Given the description of an element on the screen output the (x, y) to click on. 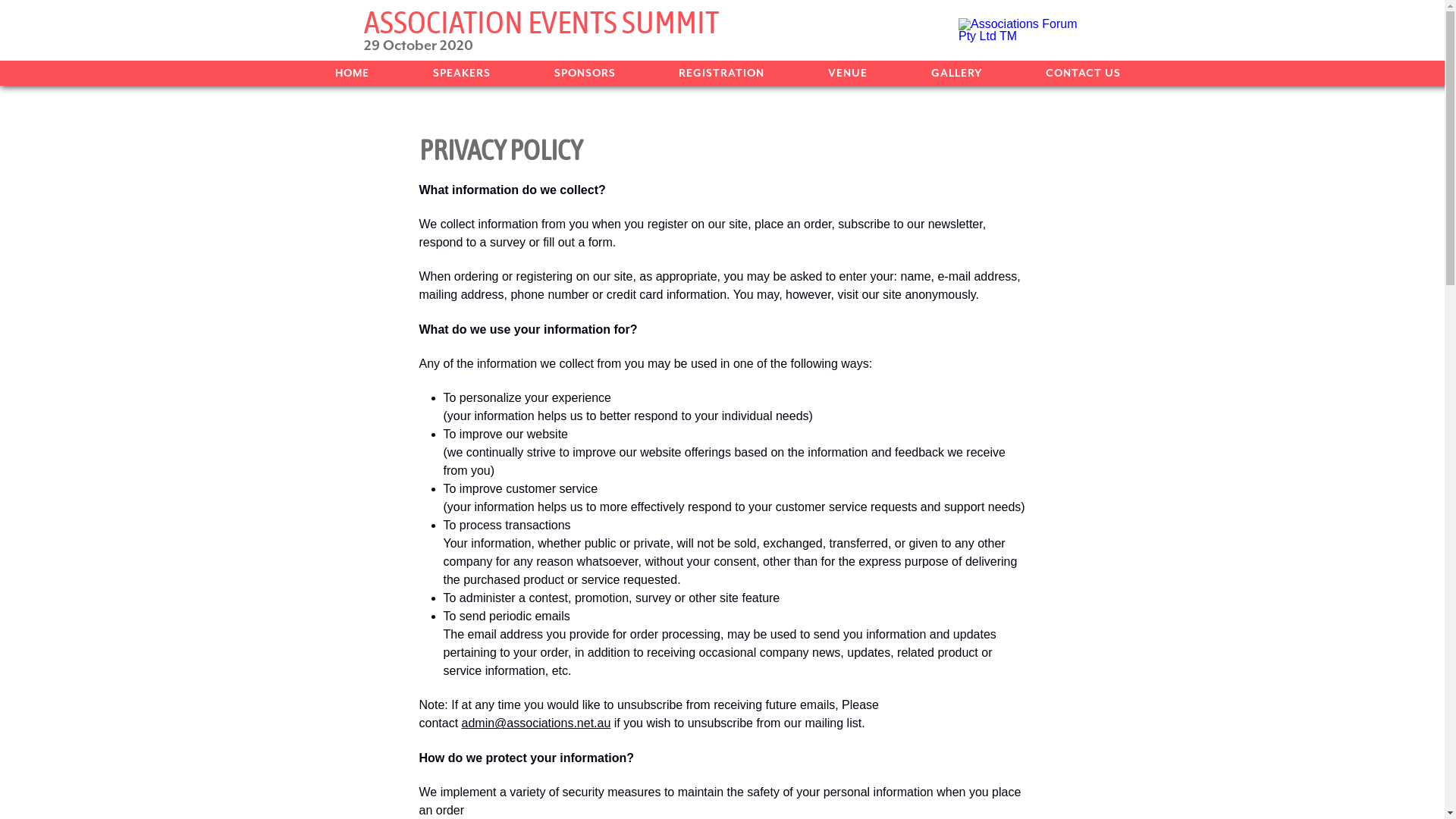
REGISTRATION Element type: text (721, 72)
VENUE Element type: text (847, 72)
SPEAKERS Element type: text (461, 72)
CONTACT US Element type: text (1082, 72)
admin@associations.net.au Element type: text (536, 722)
SPONSORS Element type: text (584, 72)
GALLERY Element type: text (956, 72)
HOME Element type: text (352, 72)
